Given the description of an element on the screen output the (x, y) to click on. 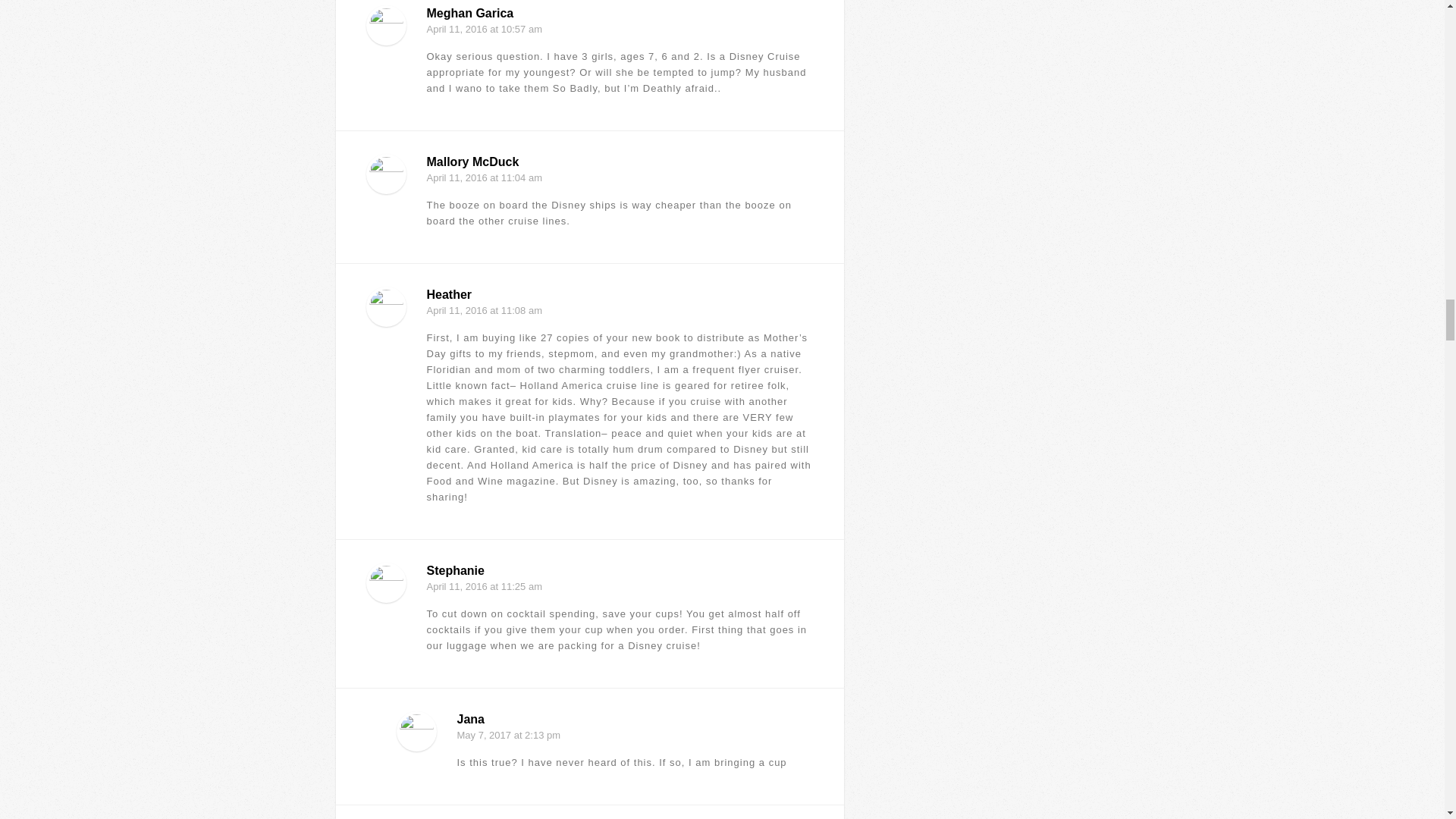
Comment Permalink (804, 102)
Comment Permalink (804, 511)
Comment Permalink (804, 235)
